Given the description of an element on the screen output the (x, y) to click on. 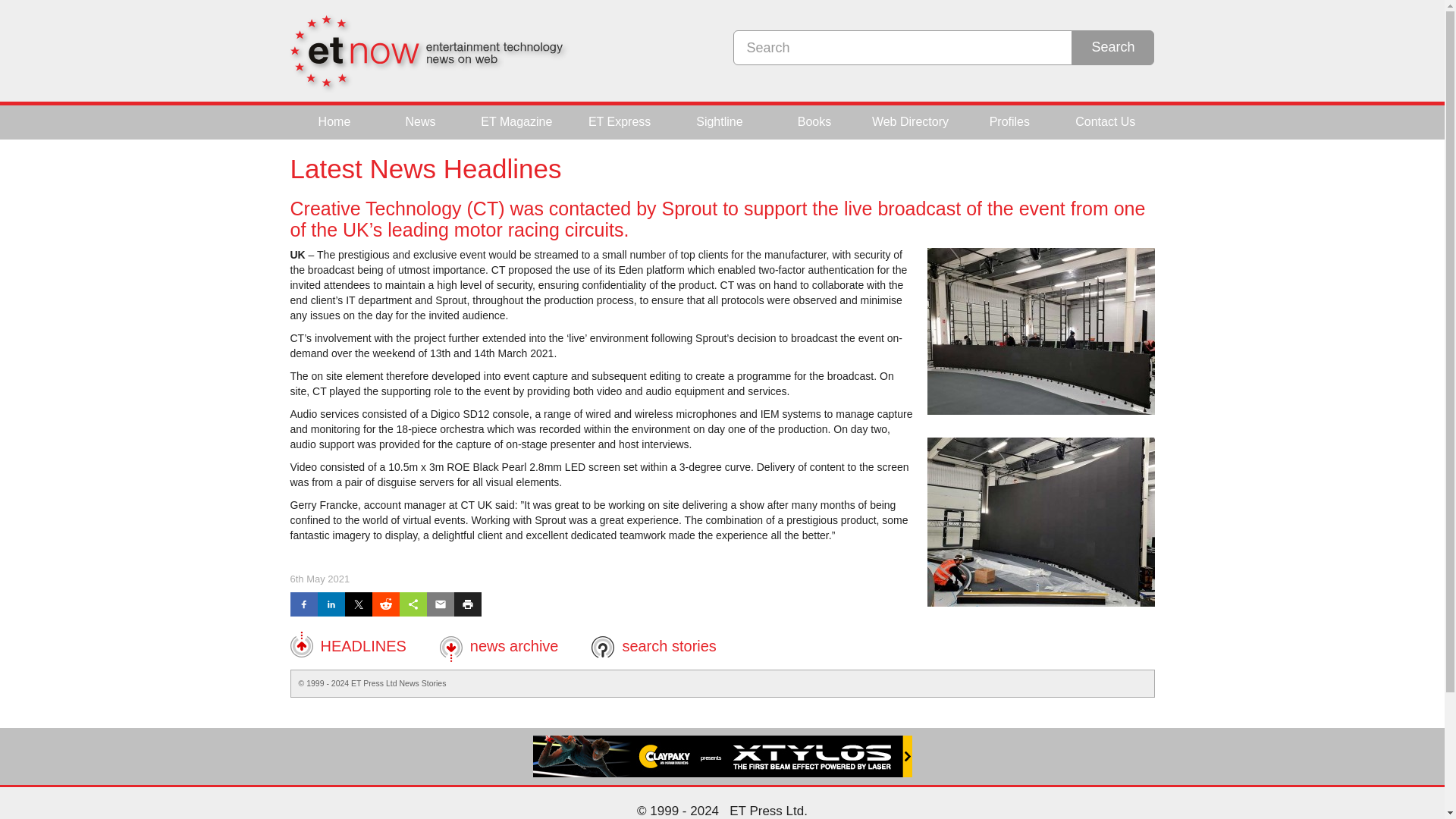
Profiles (1010, 122)
ET Magazine (516, 122)
Contact Us (1105, 122)
Home (334, 122)
Books (814, 122)
Search (1112, 47)
Sightline (719, 122)
ET Express (619, 122)
Home (334, 122)
Web Directory (909, 122)
News (420, 122)
